Given the description of an element on the screen output the (x, y) to click on. 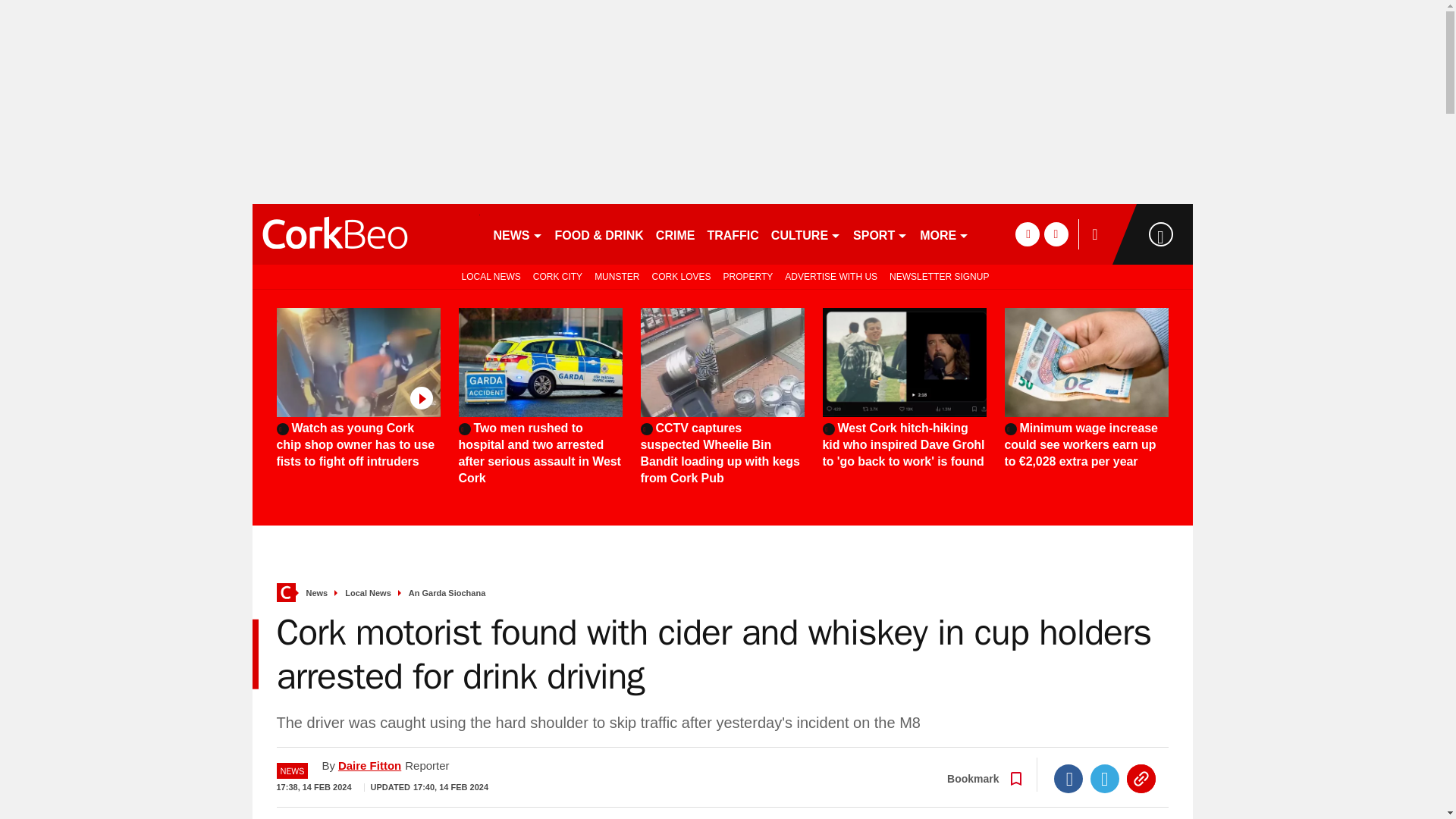
corklive (365, 233)
Facebook (1068, 778)
MUNSTER (616, 275)
NEWS (517, 233)
TRAFFIC (732, 233)
PROPERTY (747, 275)
ADVERTISE WITH US (830, 275)
CORK LOVES (680, 275)
CULTURE (806, 233)
facebook (1026, 233)
